Given the description of an element on the screen output the (x, y) to click on. 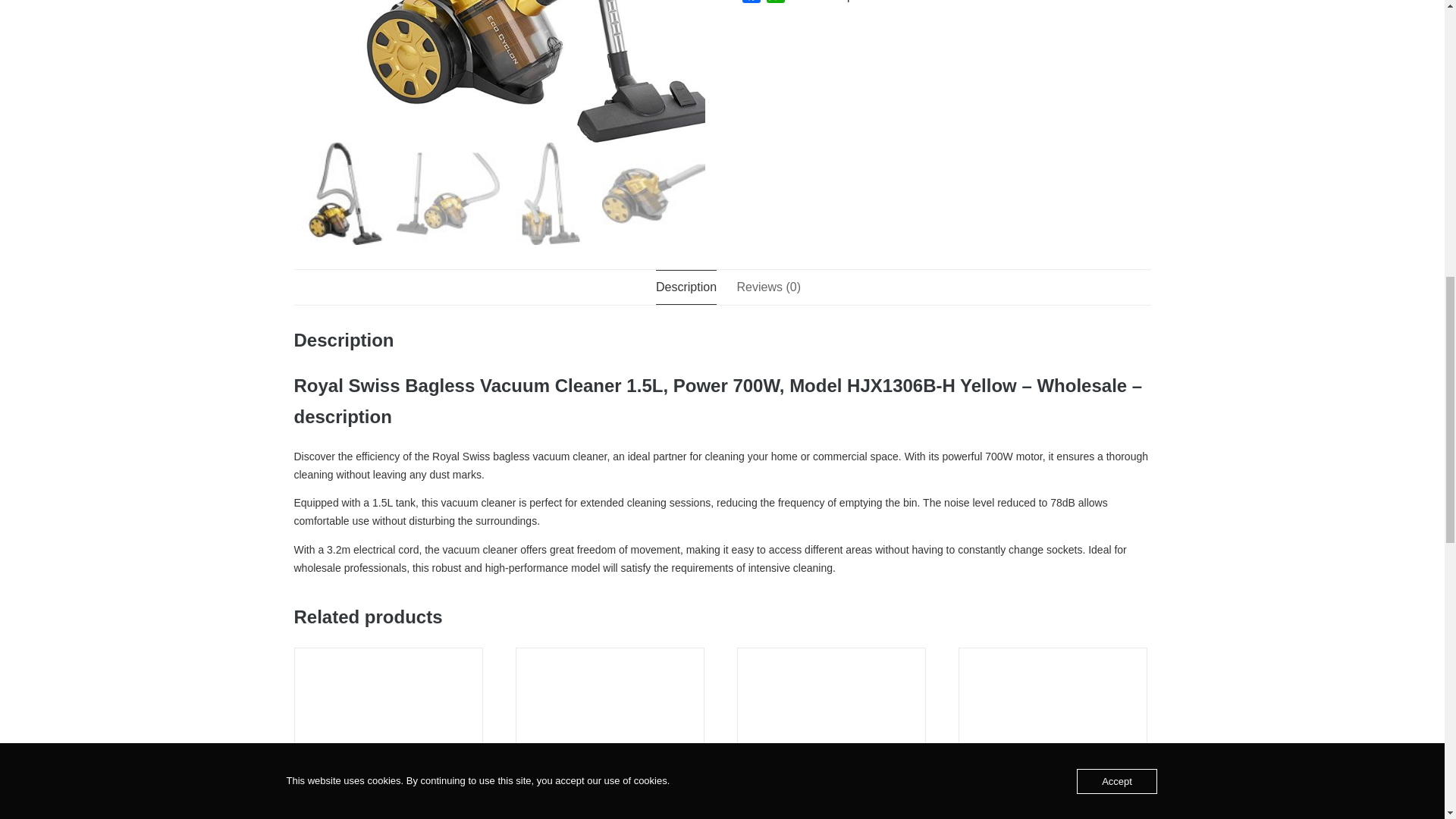
clatronic-bs-1308-drum-vacuum-dry-700-w-bagless (541, 71)
WhatsApp (774, 4)
Facebook (750, 4)
